Given the description of an element on the screen output the (x, y) to click on. 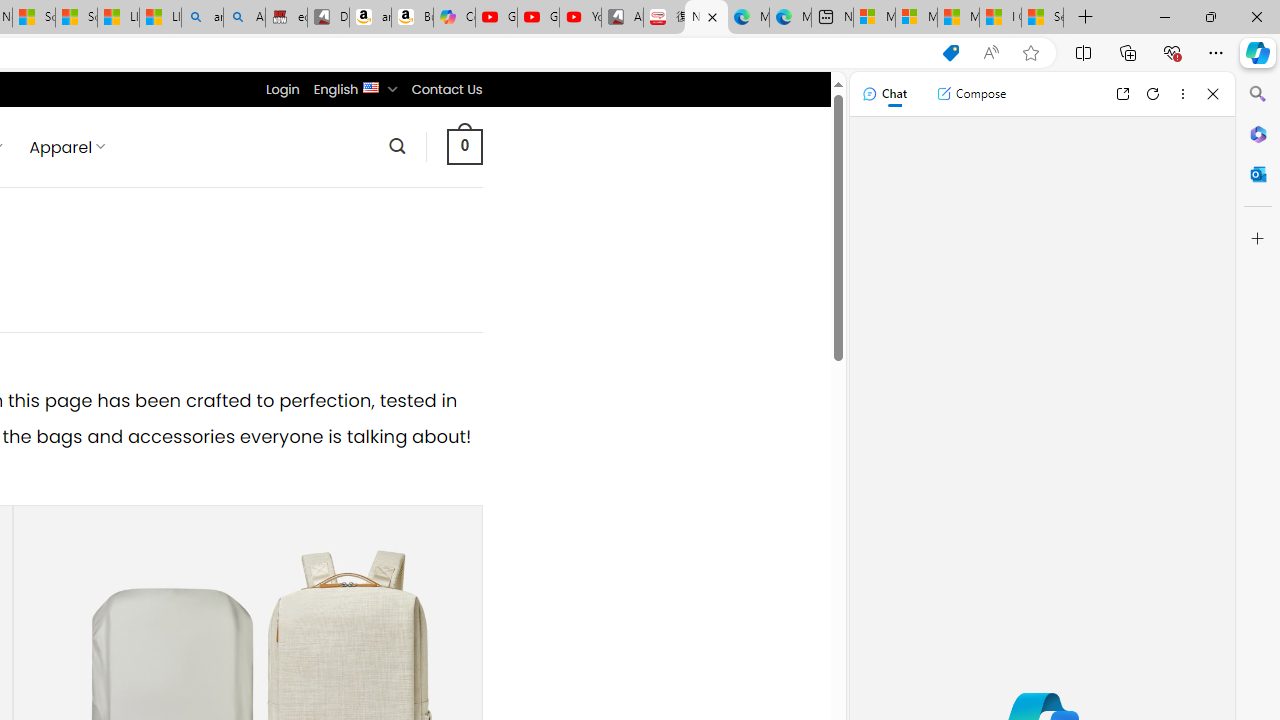
amazon.in/dp/B0CX59H5W7/?tag=gsmcom05-21 (369, 17)
